Given the description of an element on the screen output the (x, y) to click on. 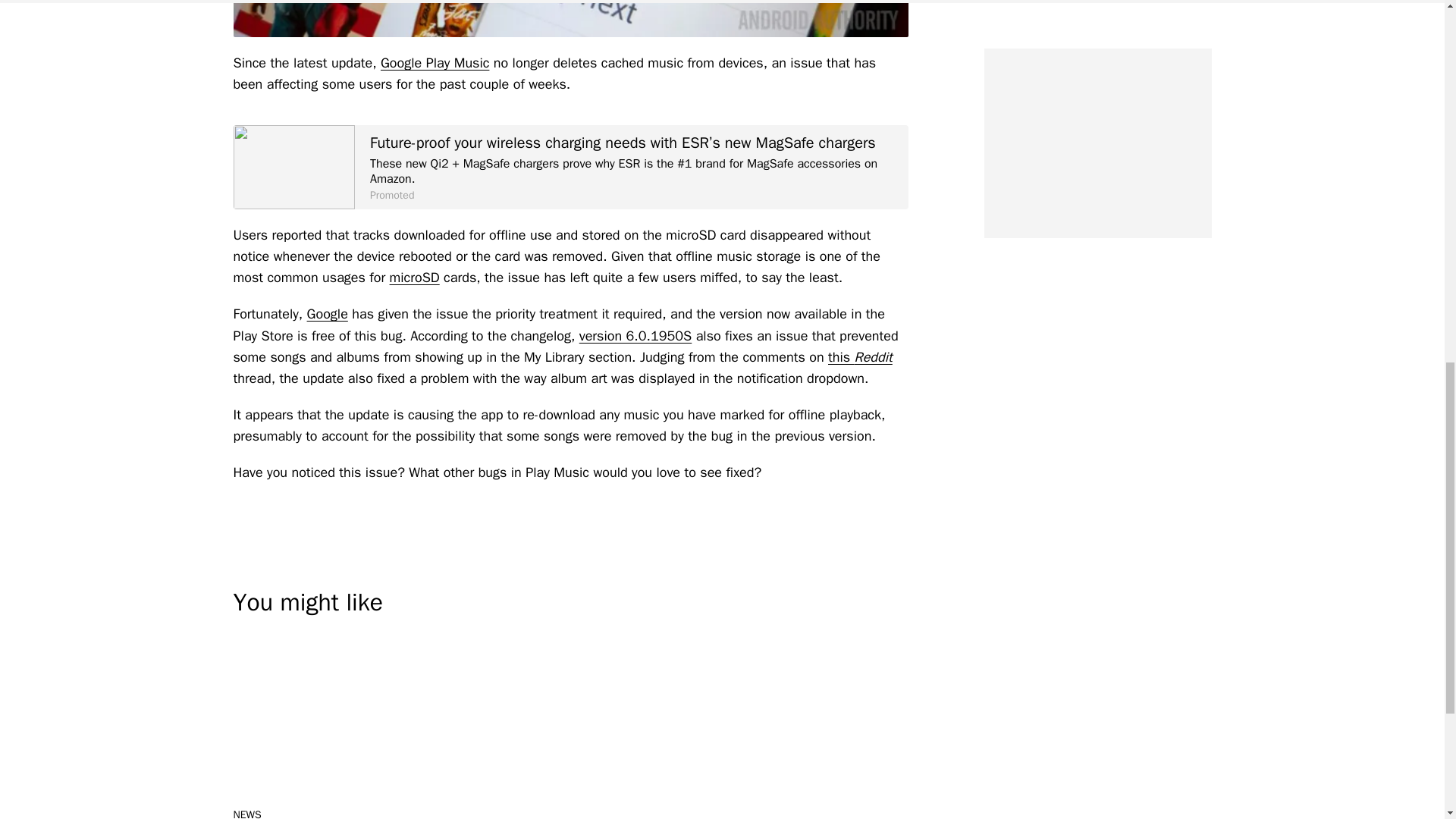
version 6.0.1950S (636, 335)
microSD (414, 277)
Google Play Music radio (570, 18)
Google (327, 313)
Google Play Music (434, 62)
this Reddit (860, 356)
NEWS (247, 813)
